Given the description of an element on the screen output the (x, y) to click on. 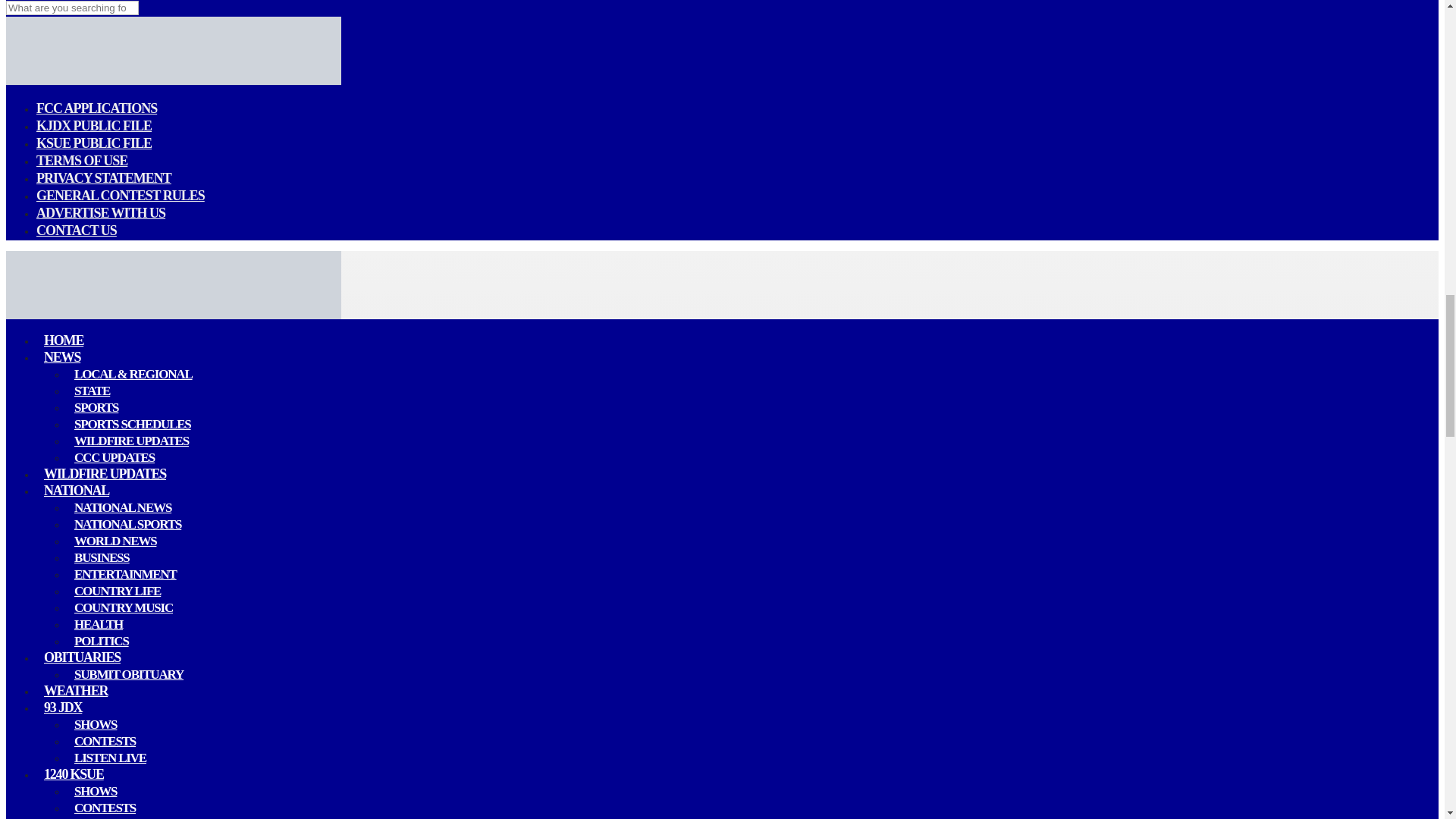
Follow us on Instagram (23, 2)
Follow us on Facebook (11, 2)
Get our iOS App (36, 2)
SierraDailyNews.com (172, 81)
Get our Android App (48, 2)
Search for: (71, 7)
